Given the description of an element on the screen output the (x, y) to click on. 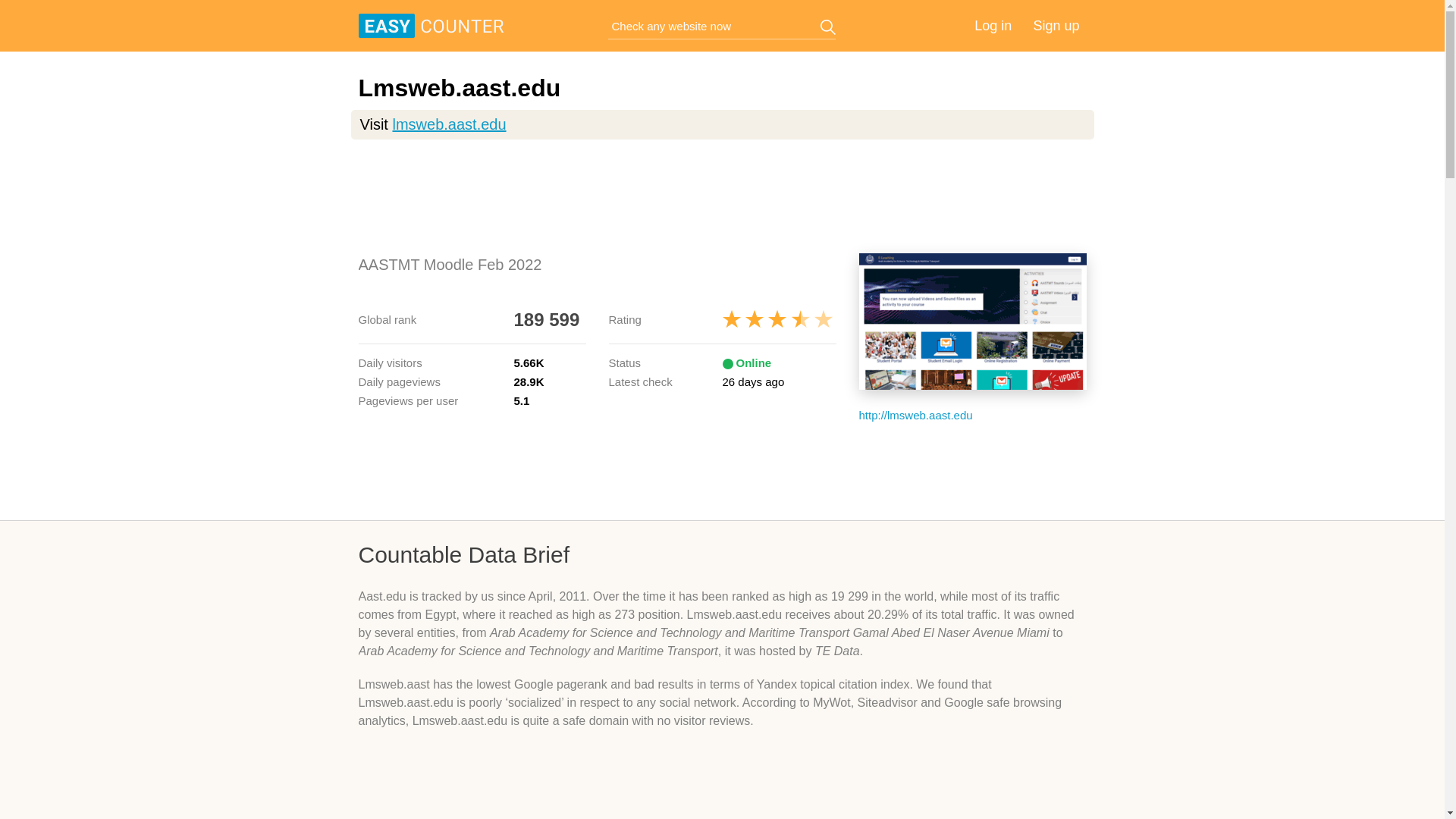
Advertisement (722, 196)
Log in (992, 25)
Advertisement (722, 470)
Lmsweb.aast.edu thumbnail (972, 321)
Advertisement (722, 785)
lmsweb.aast.edu (448, 124)
Sign up (1056, 25)
